Given the description of an element on the screen output the (x, y) to click on. 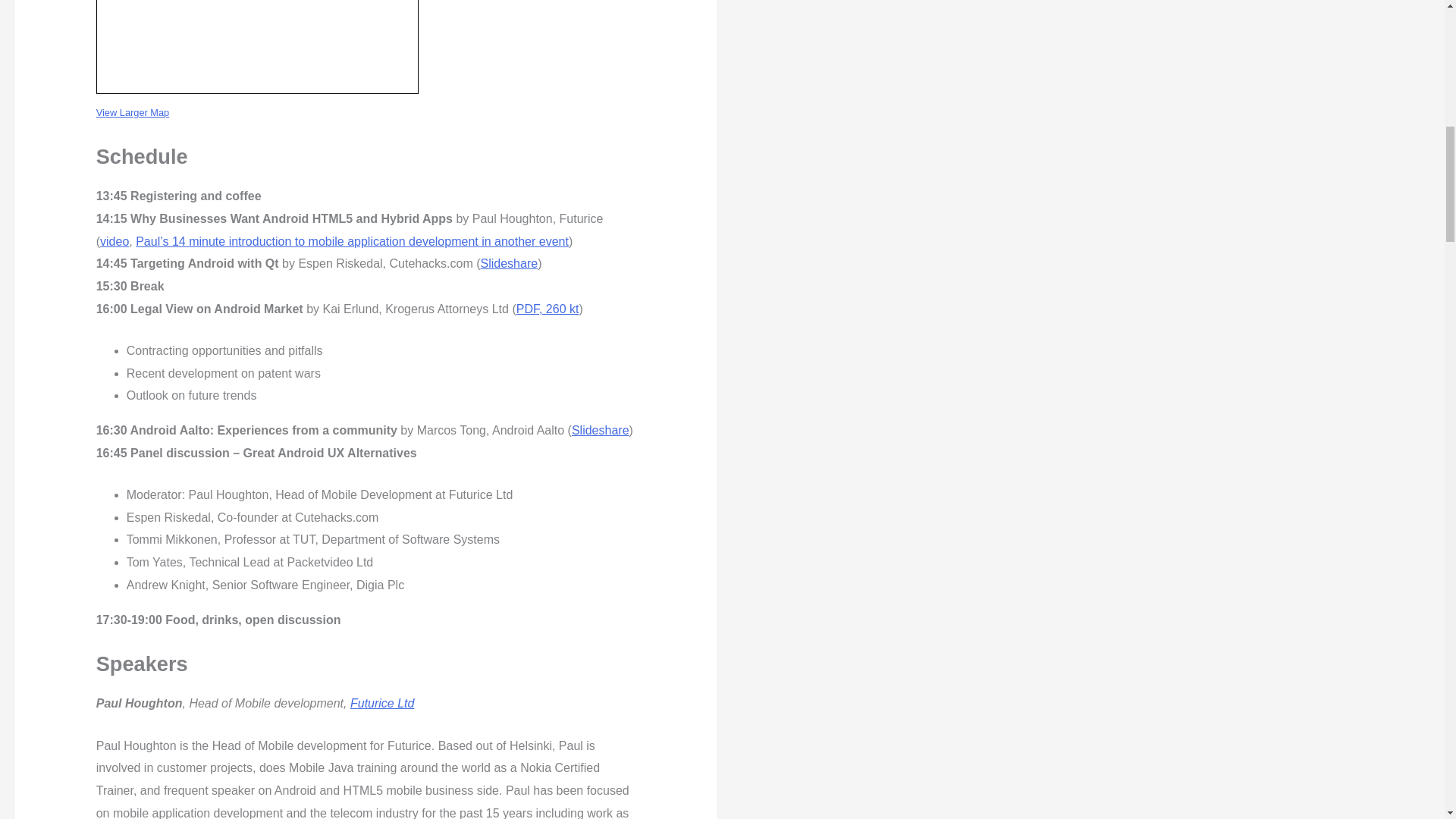
View Larger Map (133, 112)
